Given the description of an element on the screen output the (x, y) to click on. 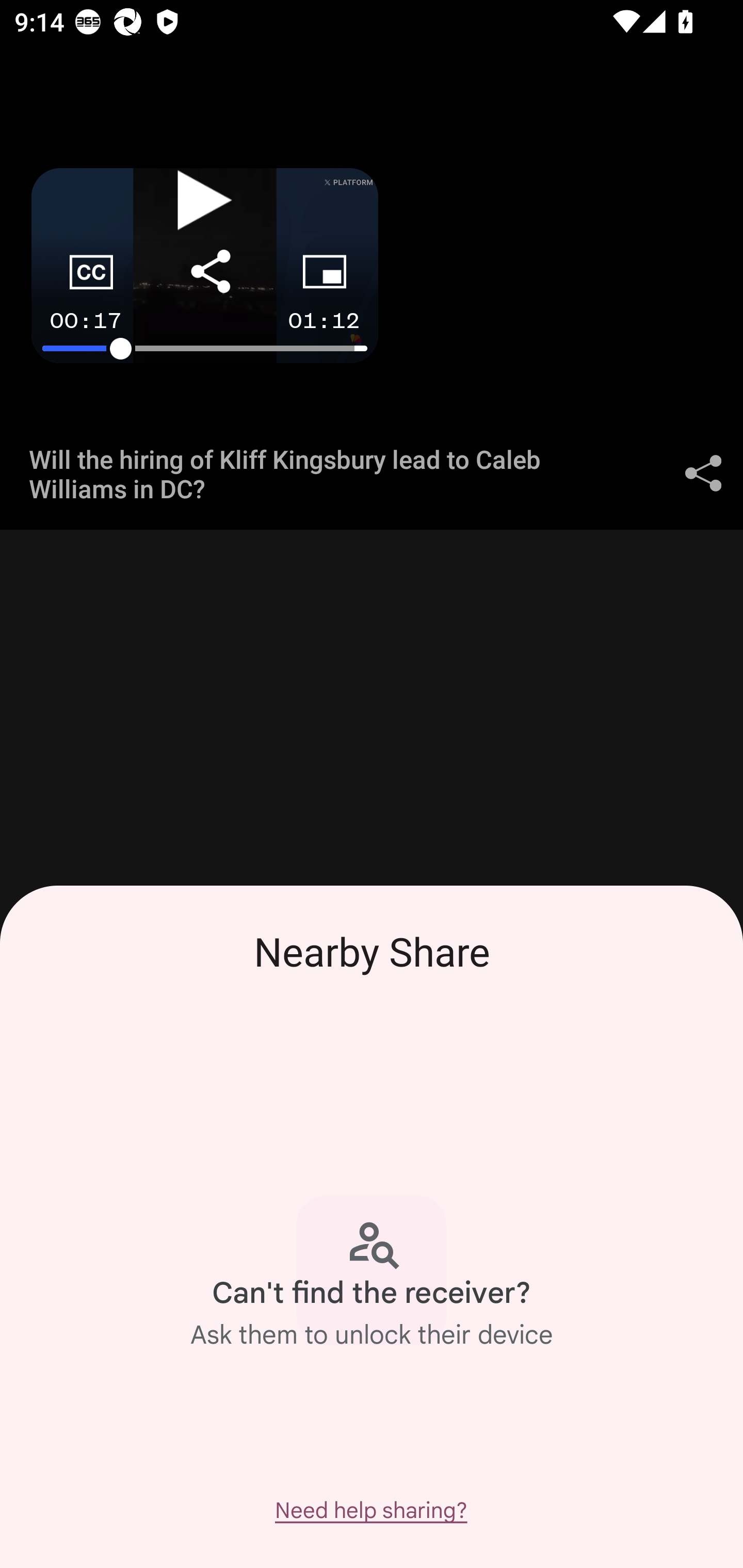
Need help sharing? (370, 1510)
